Given the description of an element on the screen output the (x, y) to click on. 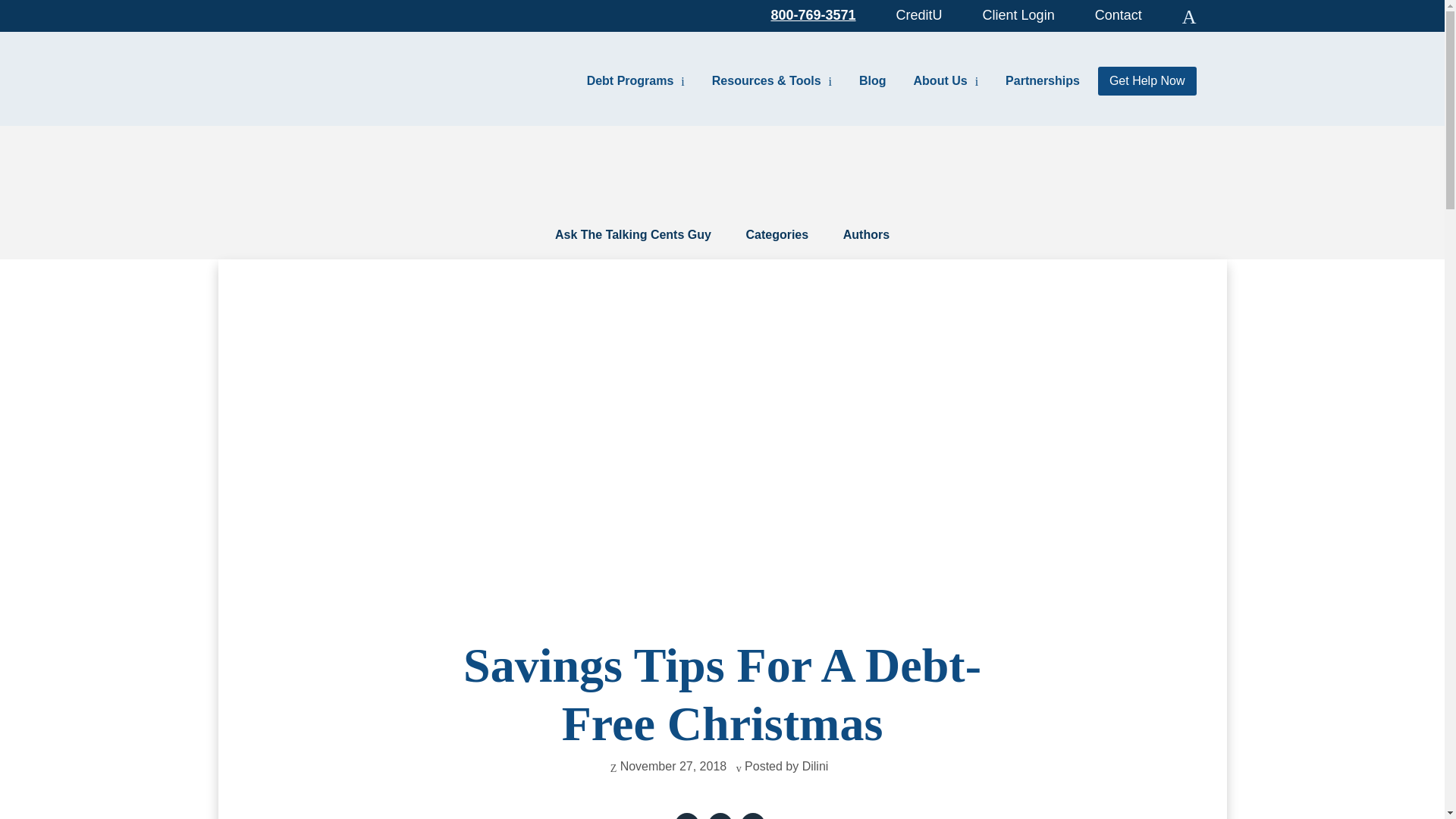
Contact (1117, 14)
Client Login (1018, 14)
Debt Programs (635, 80)
CreditU (919, 14)
800-769-3571 (813, 14)
